Given the description of an element on the screen output the (x, y) to click on. 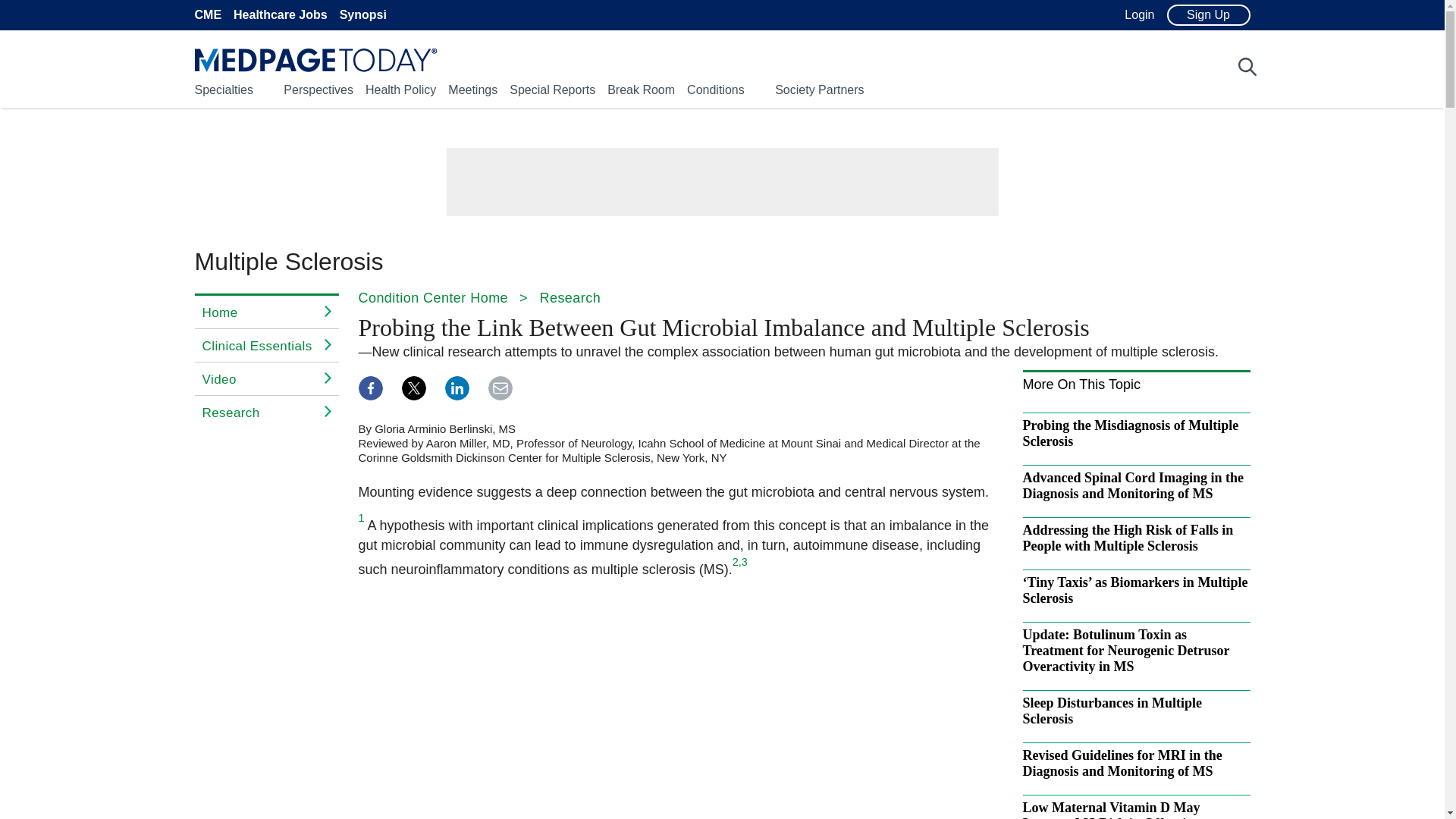
Specialties (222, 89)
Share on Facebook. Opens in a new tab or window (369, 387)
Synopsi (363, 15)
Share on X. Opens in a new tab or window (413, 387)
Healthcare Jobs (279, 15)
CME (207, 15)
Share on LinkedIn. Opens in a new tab or window (456, 387)
